Given the description of an element on the screen output the (x, y) to click on. 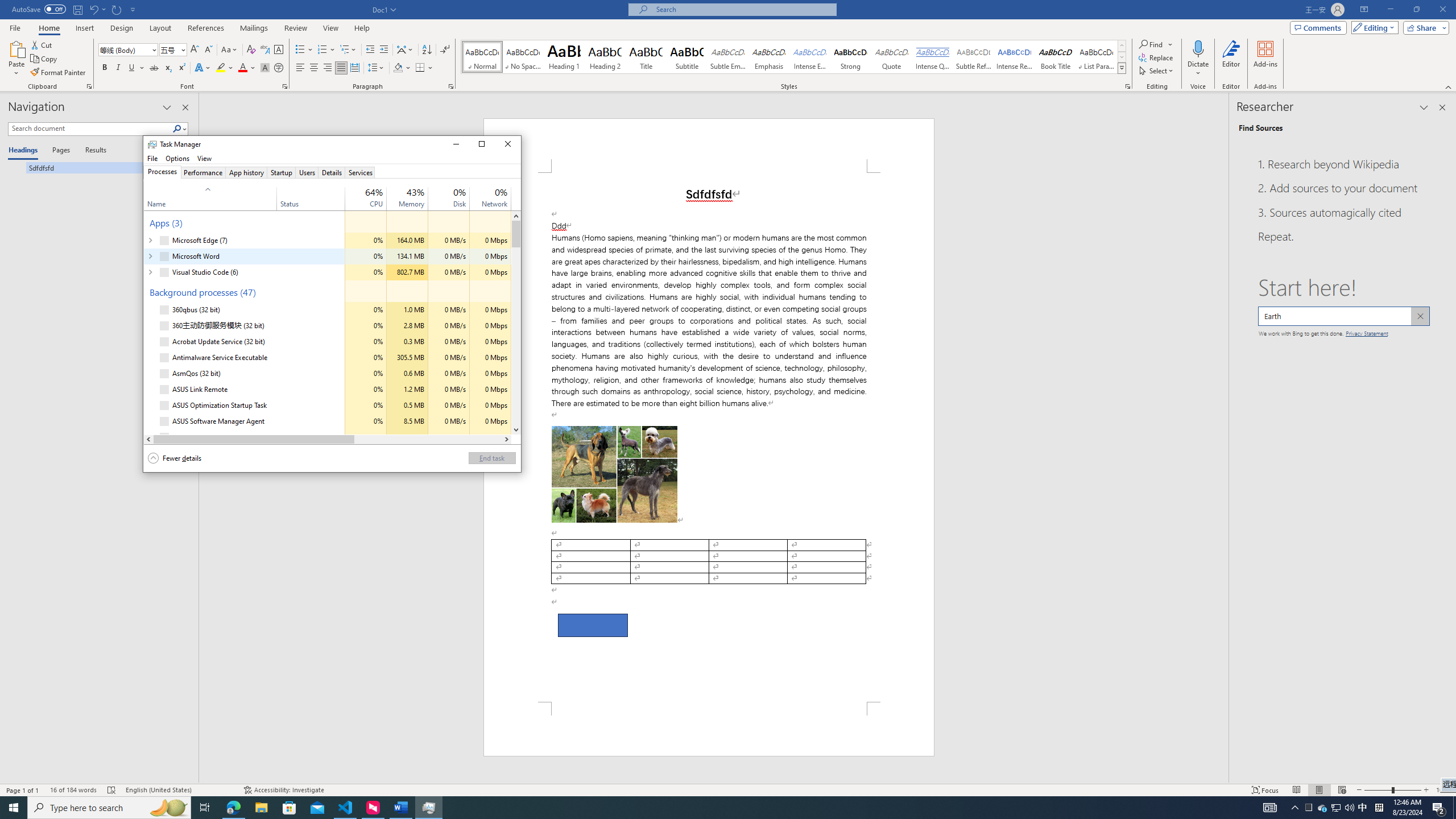
AutomationID: TmColStatusText (1322, 807)
Action Center, 2 new notifications (278, 437)
Zoom 100% (1439, 807)
Q2790: 100% (1443, 790)
